Given the description of an element on the screen output the (x, y) to click on. 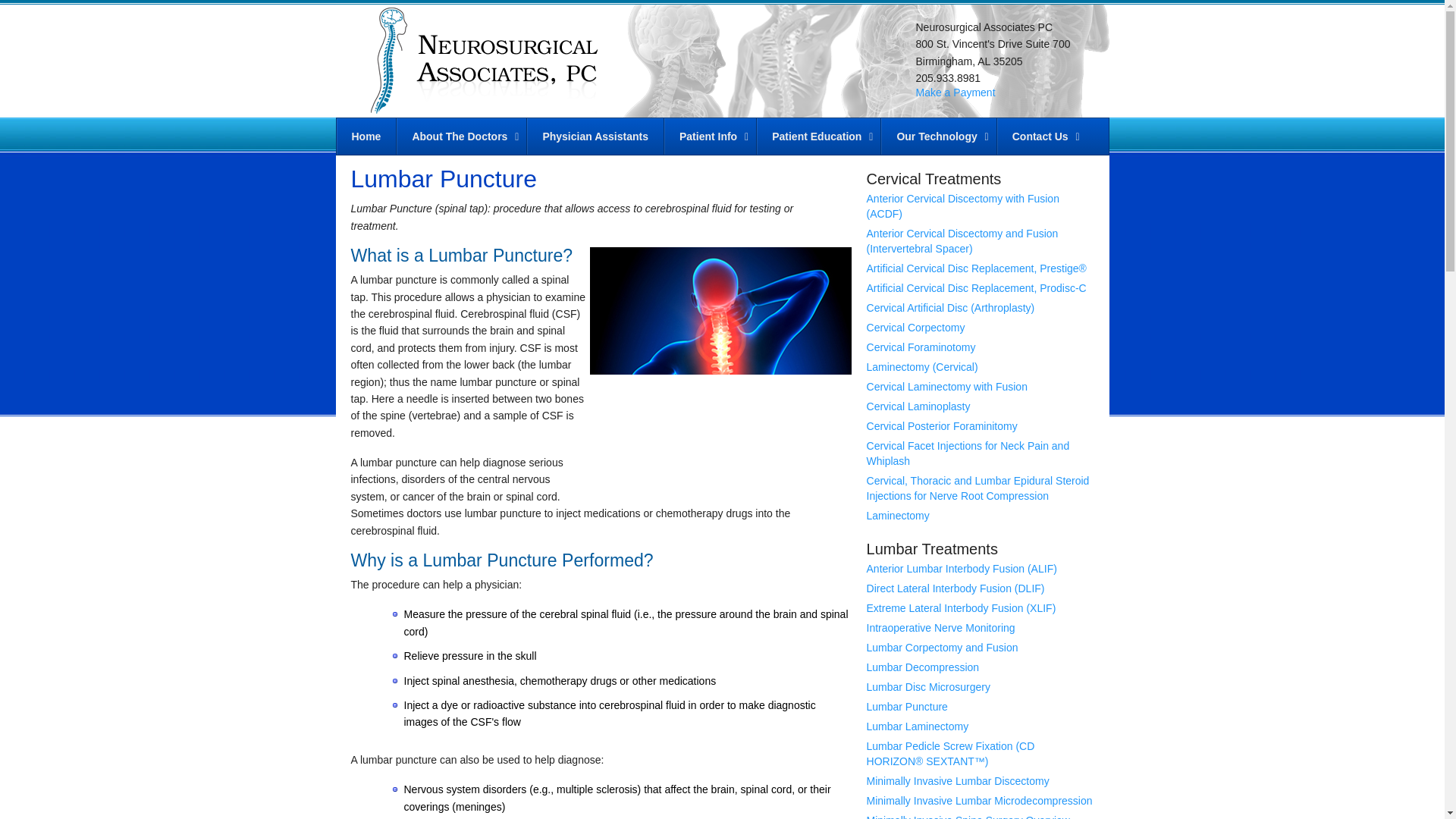
Make a Payment (955, 92)
About The Doctors (460, 135)
Lumbar Puncture (720, 376)
Home (366, 135)
Physician Assistants (594, 135)
Patient Education (817, 135)
